Given the description of an element on the screen output the (x, y) to click on. 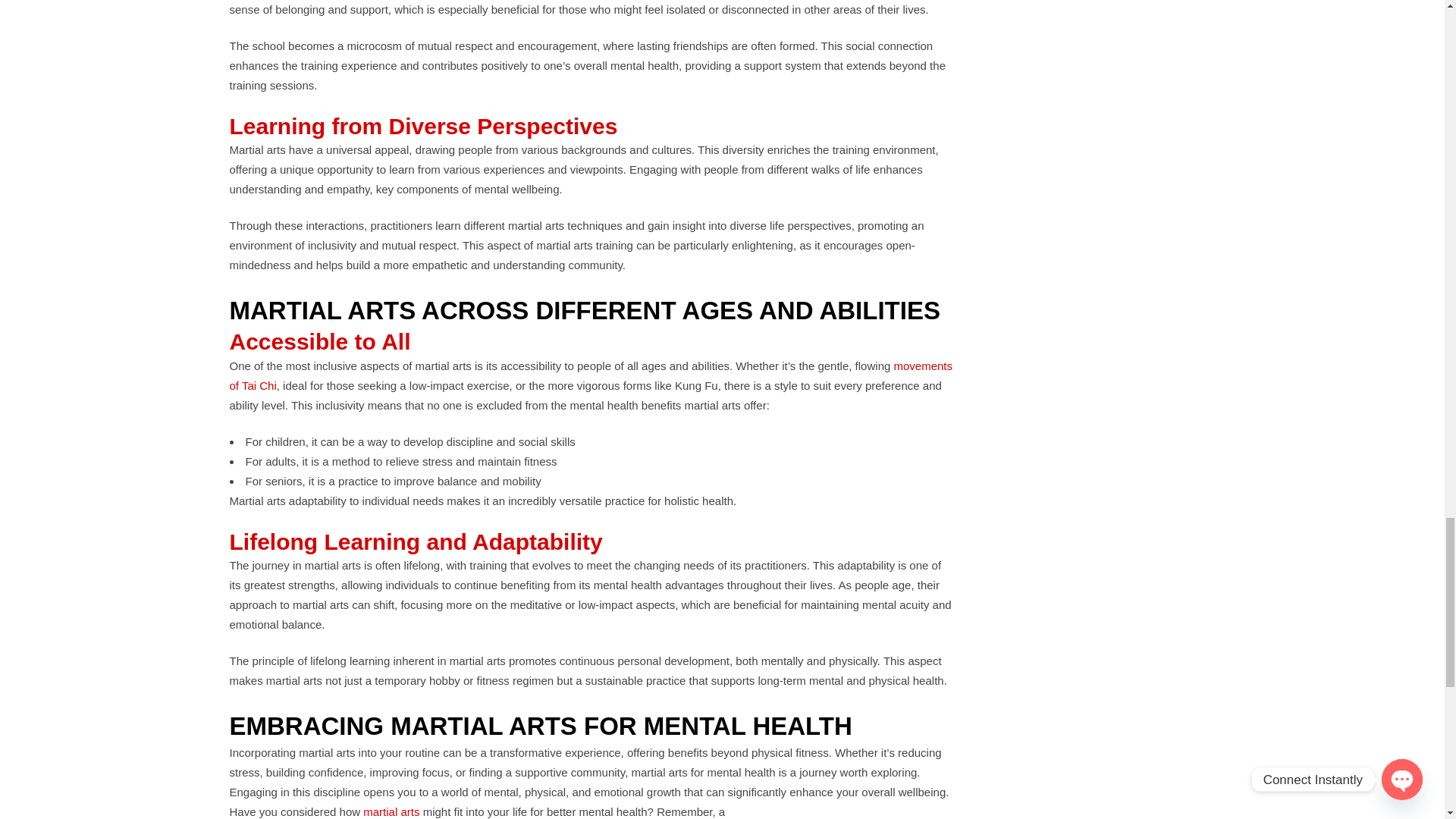
movements of Tai Chi (590, 375)
martial arts (390, 811)
